Given the description of an element on the screen output the (x, y) to click on. 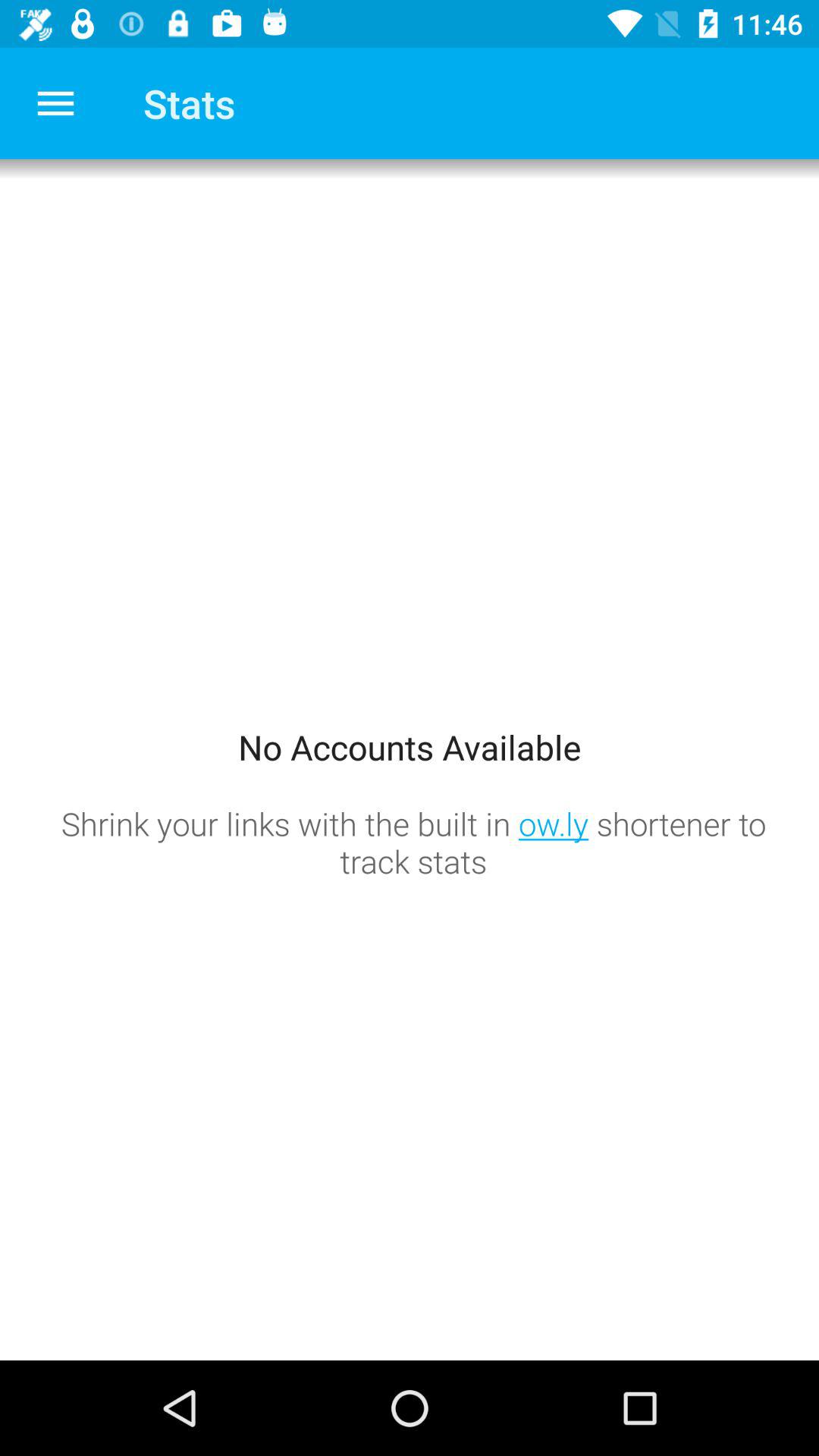
tap the item next to stats item (55, 103)
